Given the description of an element on the screen output the (x, y) to click on. 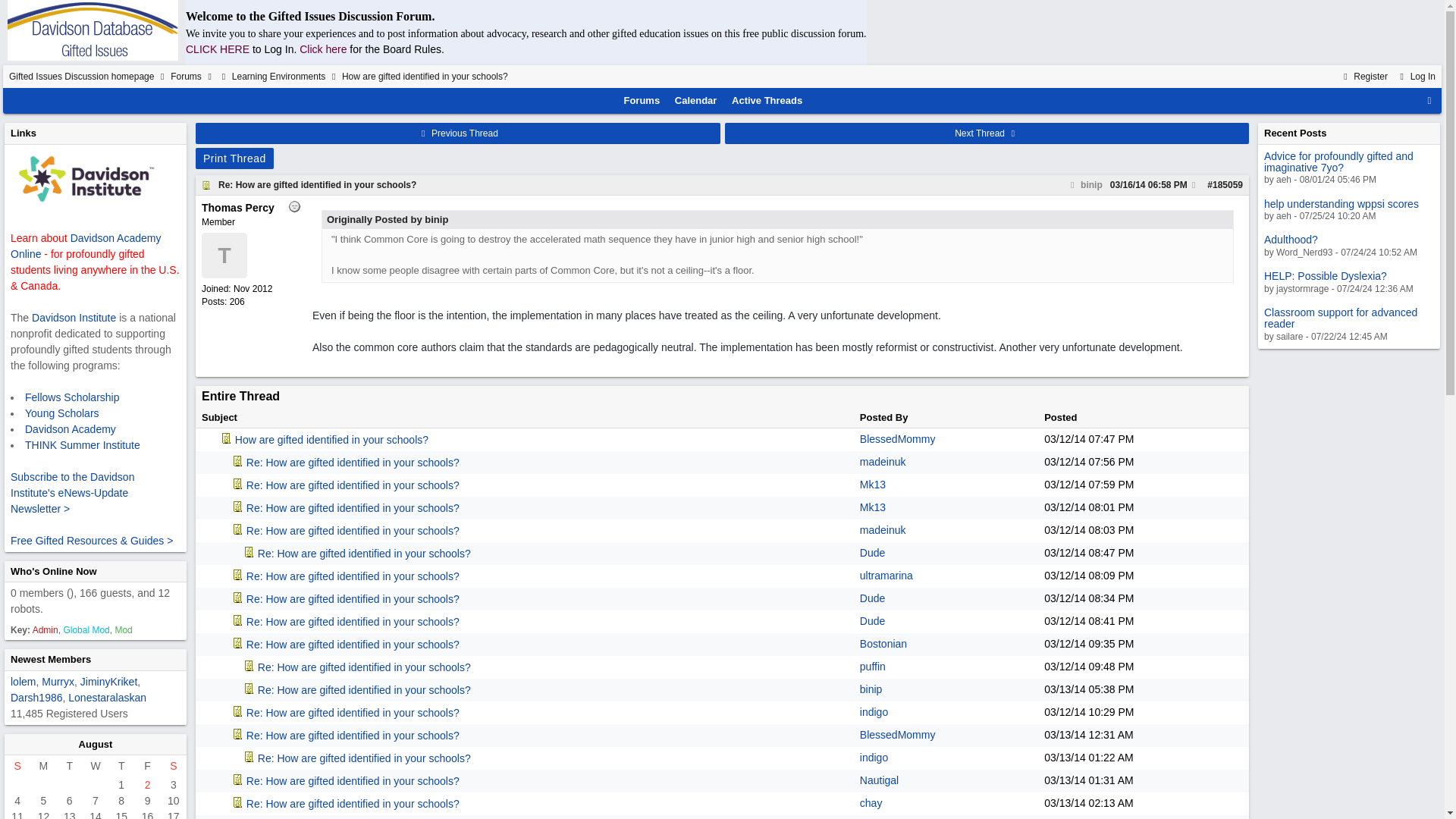
lolem (22, 681)
Lonestaralaskan (107, 697)
Learning Environments (277, 76)
Newest Members (50, 659)
Forums (641, 100)
THINK Summer Institute (81, 444)
Murryx (58, 681)
to Log In. (275, 49)
Davidson Academy (70, 428)
Log In (1415, 76)
JiminyKriket (108, 681)
Re: How are gifted identified in your schools? (317, 184)
Register (1363, 76)
August (95, 744)
Gifted Issues Discussion homepage (81, 76)
